Given the description of an element on the screen output the (x, y) to click on. 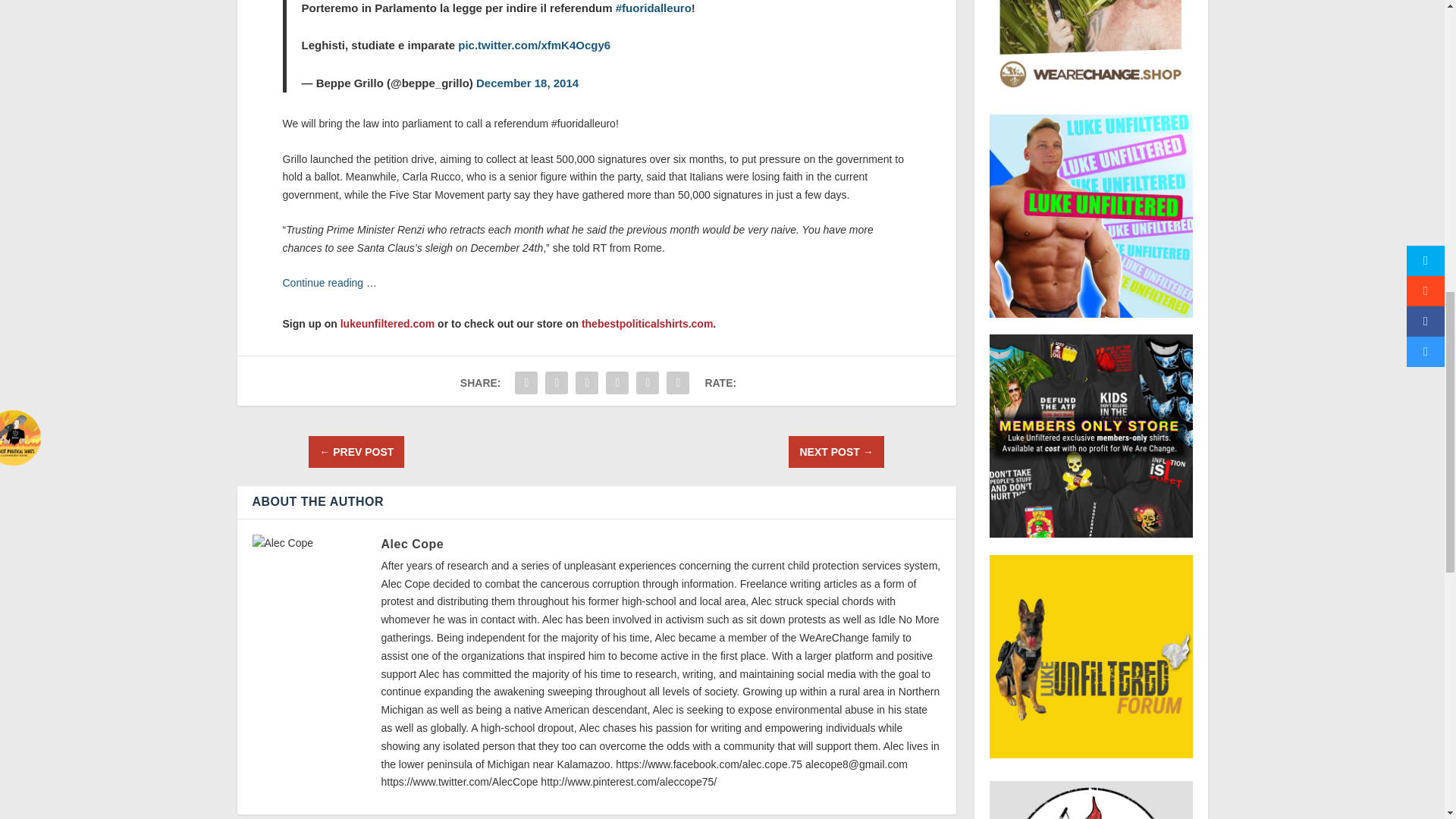
View all posts by Alec Cope (412, 543)
December 18, 2014 (527, 82)
Continue reading (322, 282)
thebestpoliticalshirts.com (646, 323)
lukeunfiltered.com (386, 323)
